Given the description of an element on the screen output the (x, y) to click on. 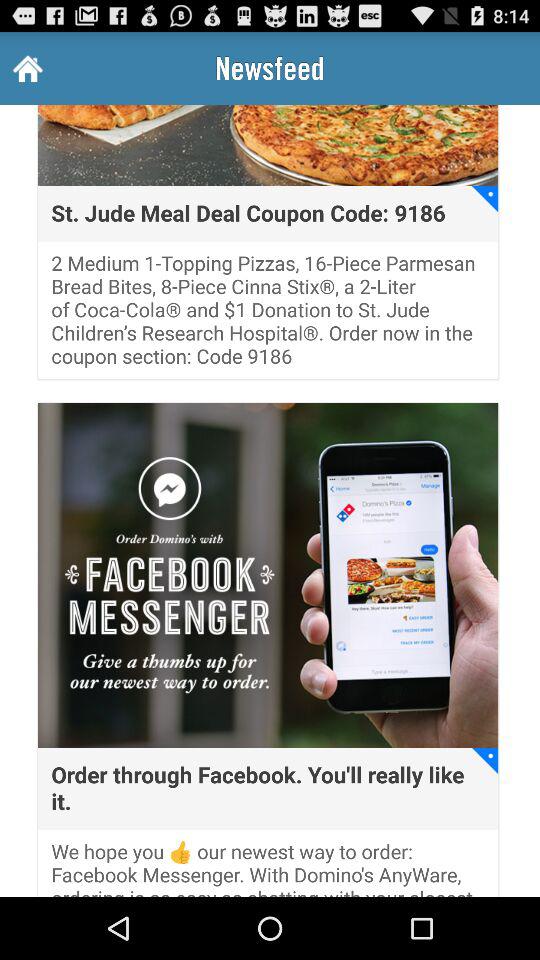
click on the first image (267, 145)
